Given the description of an element on the screen output the (x, y) to click on. 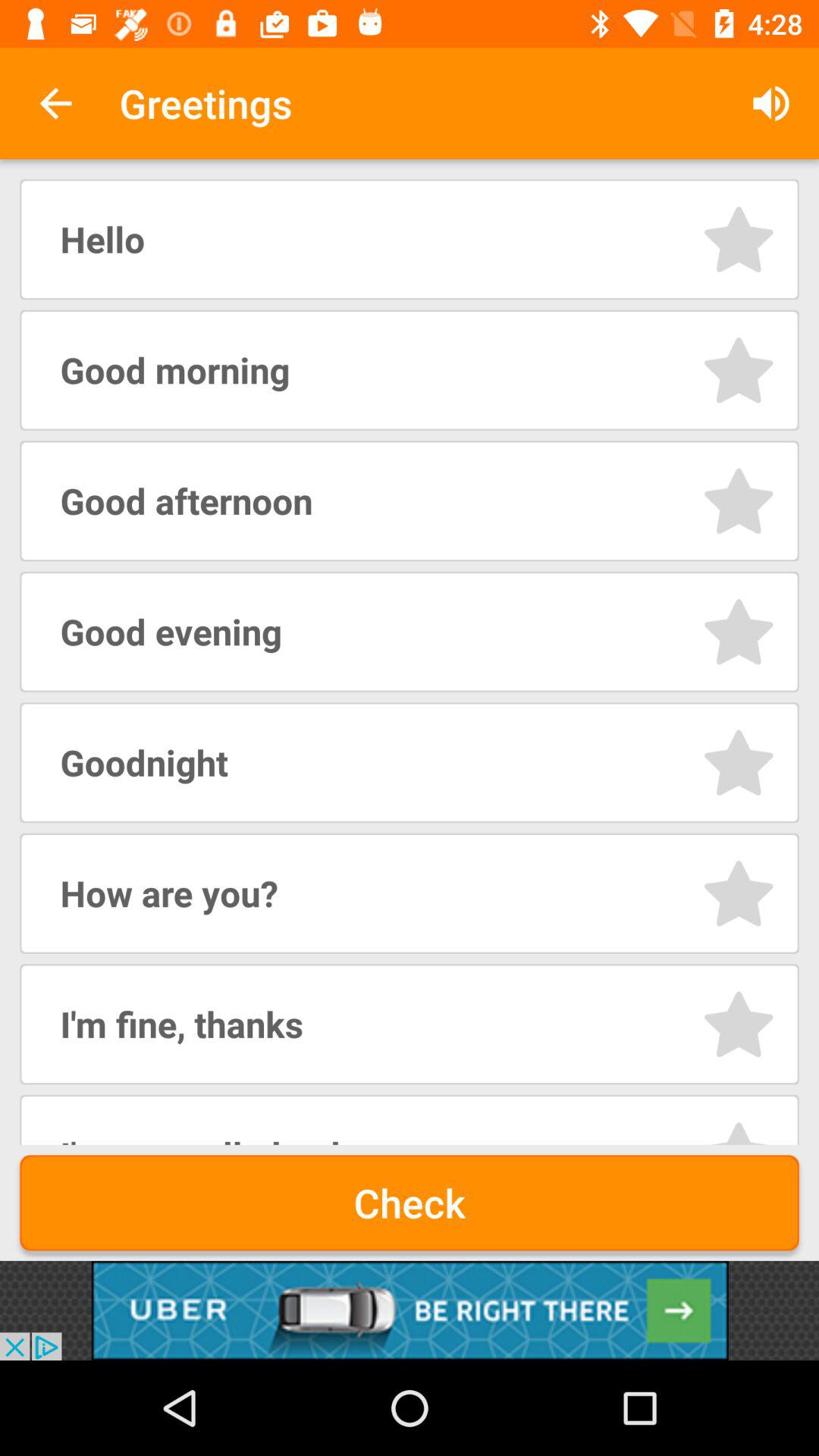
bookmark sound (738, 893)
